Given the description of an element on the screen output the (x, y) to click on. 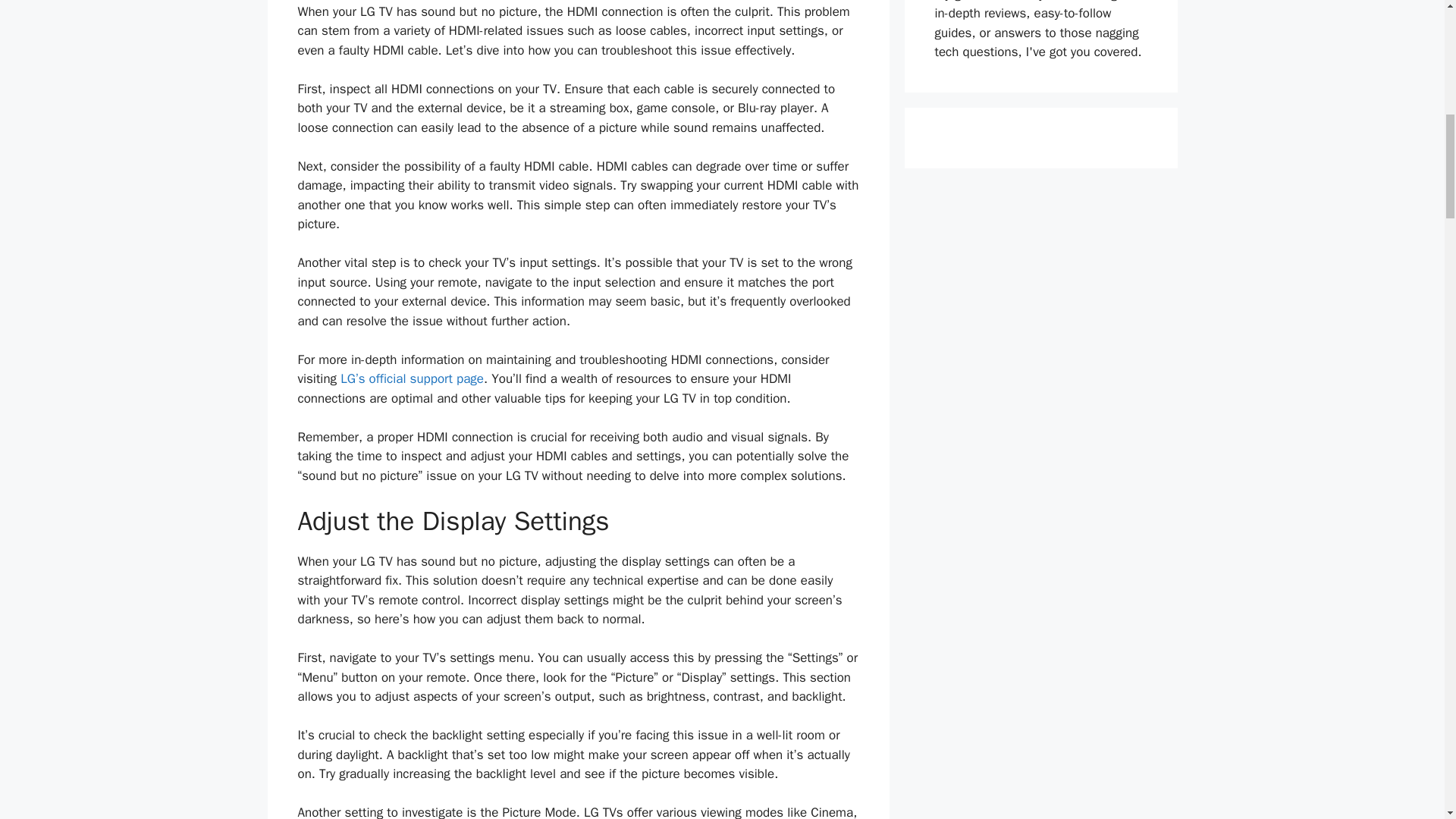
Scroll back to top (1406, 720)
